Given the description of an element on the screen output the (x, y) to click on. 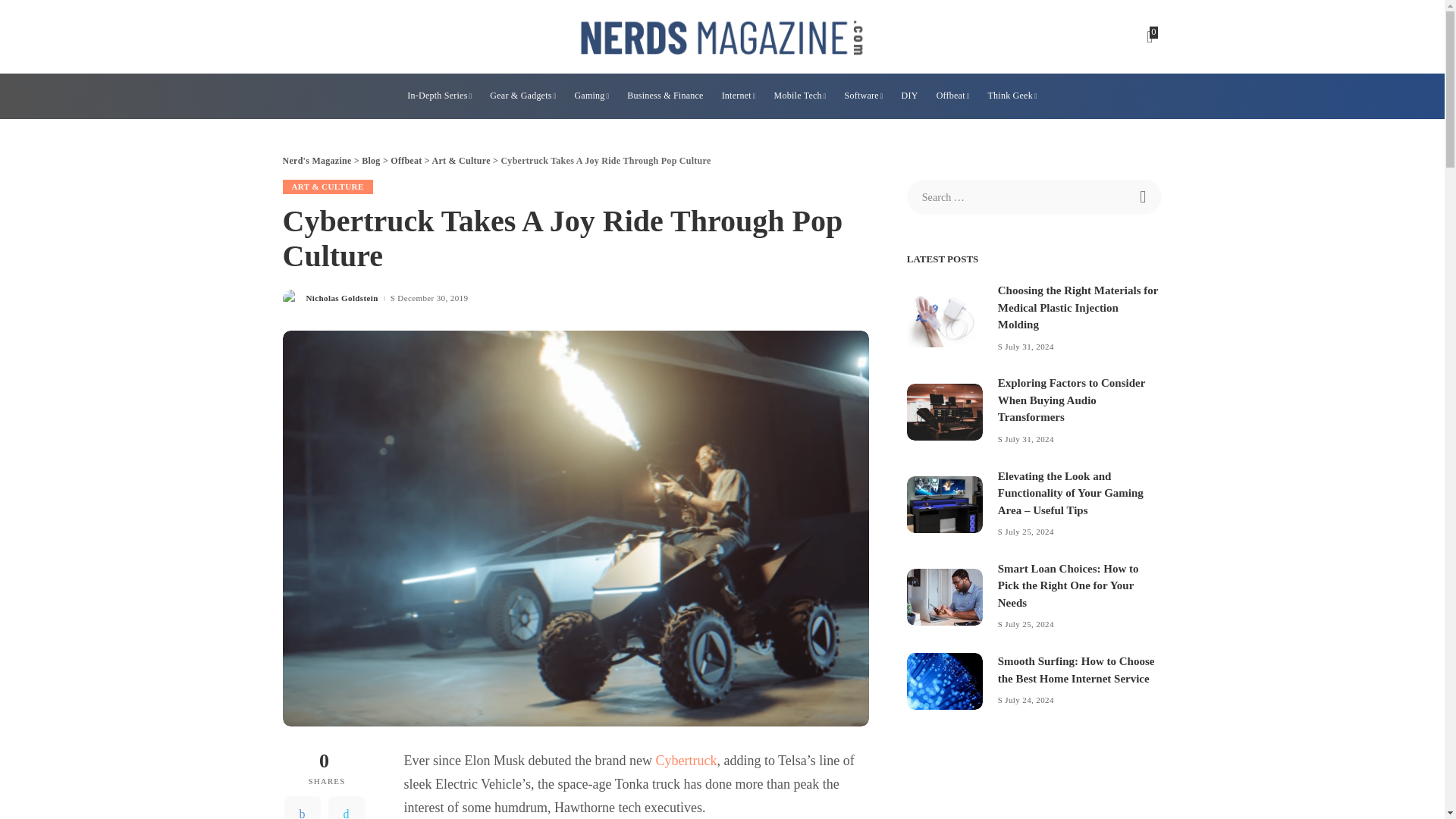
Go to the Offbeat Category archives. (406, 160)
2019-12-30T13:12:29-06:00 (432, 298)
Facebook (301, 807)
Search (1143, 196)
Nerd's Magazine (722, 36)
Gaming (590, 95)
Go to Nerd's Magazine. (316, 160)
In-Depth Series (438, 95)
Twitter (345, 807)
Search (1143, 196)
Go to Blog. (370, 160)
